Given the description of an element on the screen output the (x, y) to click on. 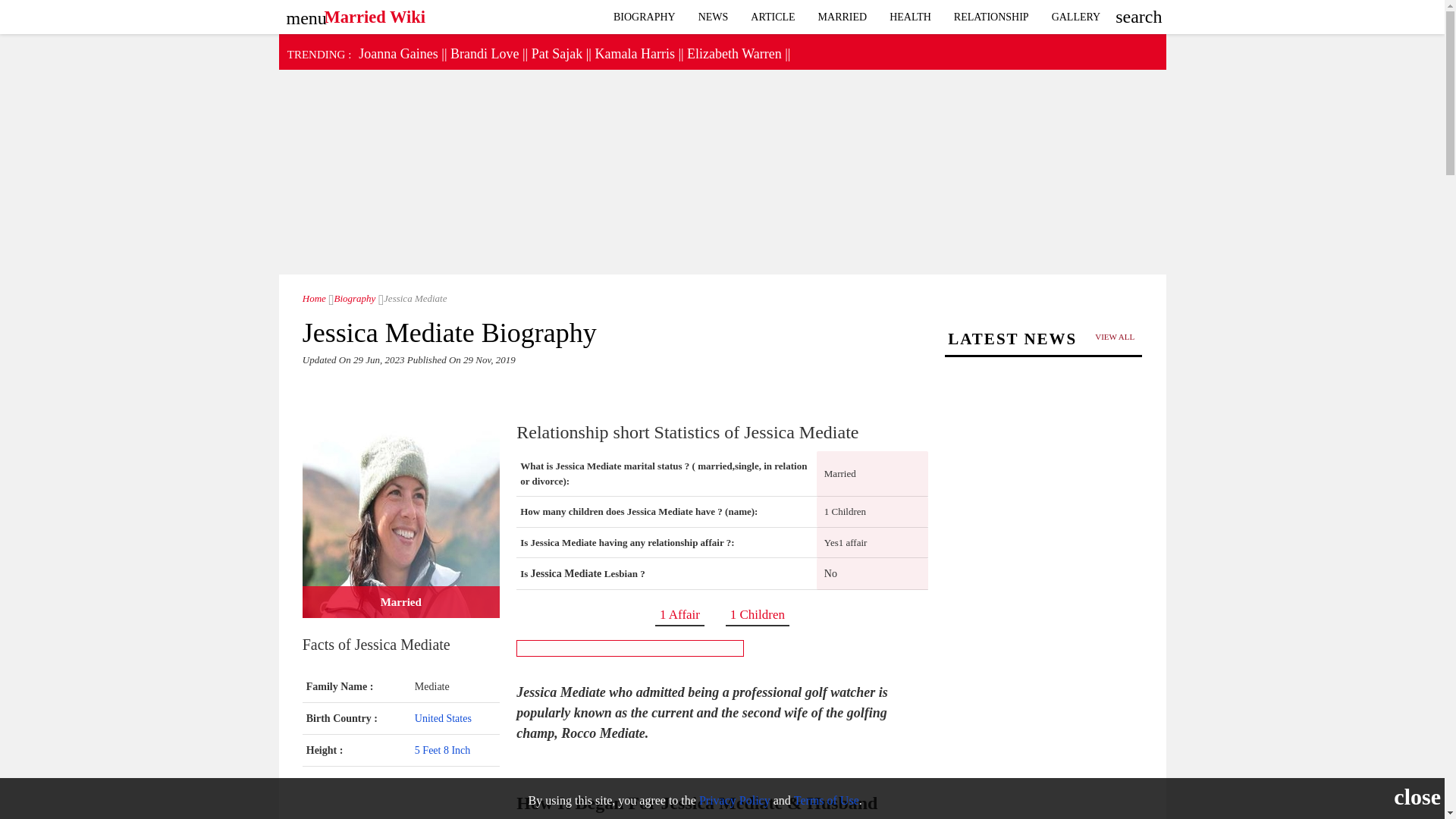
Article (772, 17)
United States (442, 717)
Relationship (991, 17)
Pat Sajak (557, 53)
menu (302, 13)
Privacy Policy (734, 799)
1 Affair (679, 614)
Elizabeth Warren (734, 53)
Brandi Love (483, 53)
BIOGRAPHY (644, 17)
